Given the description of an element on the screen output the (x, y) to click on. 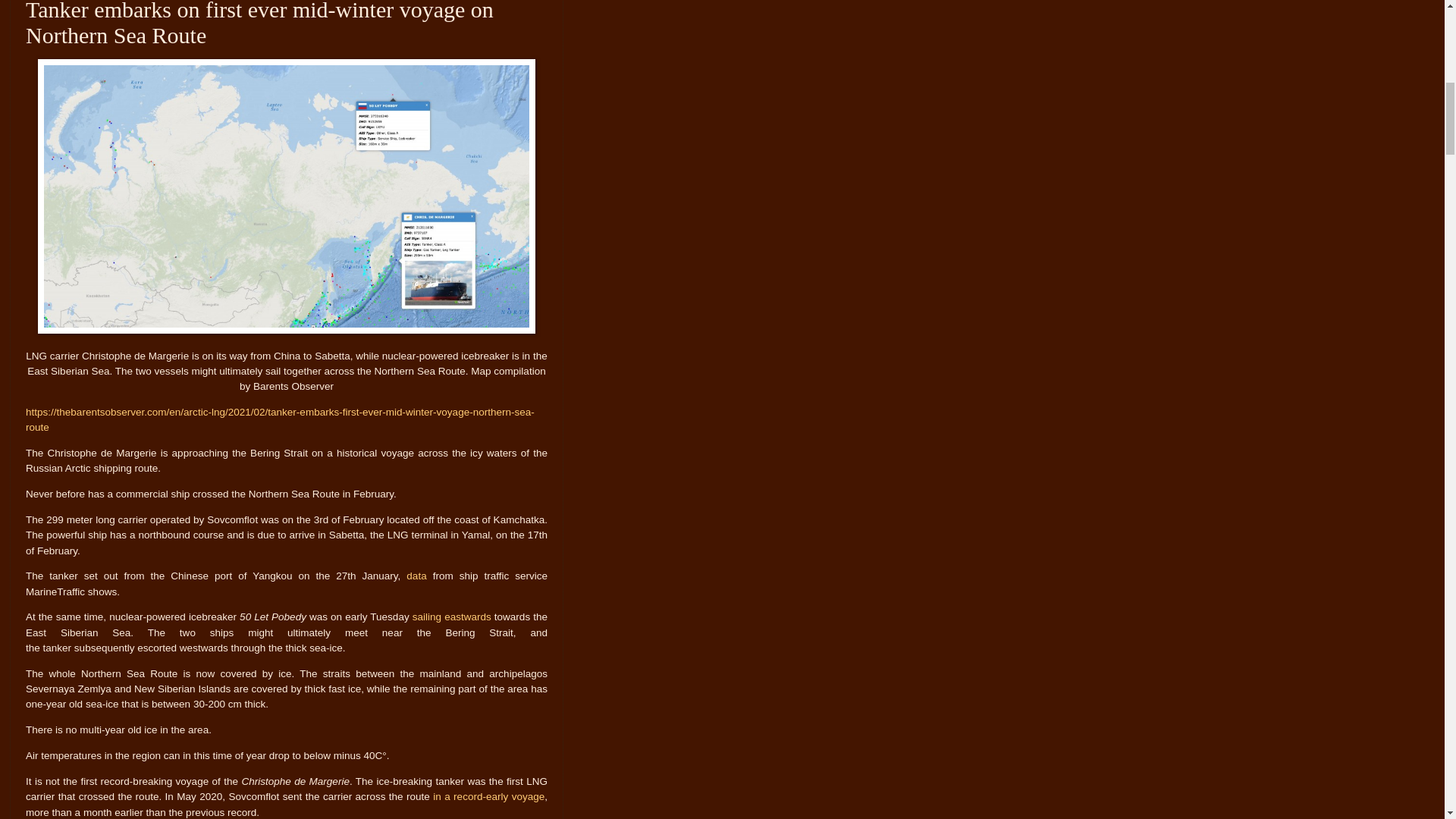
in a record-early voyage (488, 796)
data (416, 575)
sailing eastwards (452, 616)
